Given the description of an element on the screen output the (x, y) to click on. 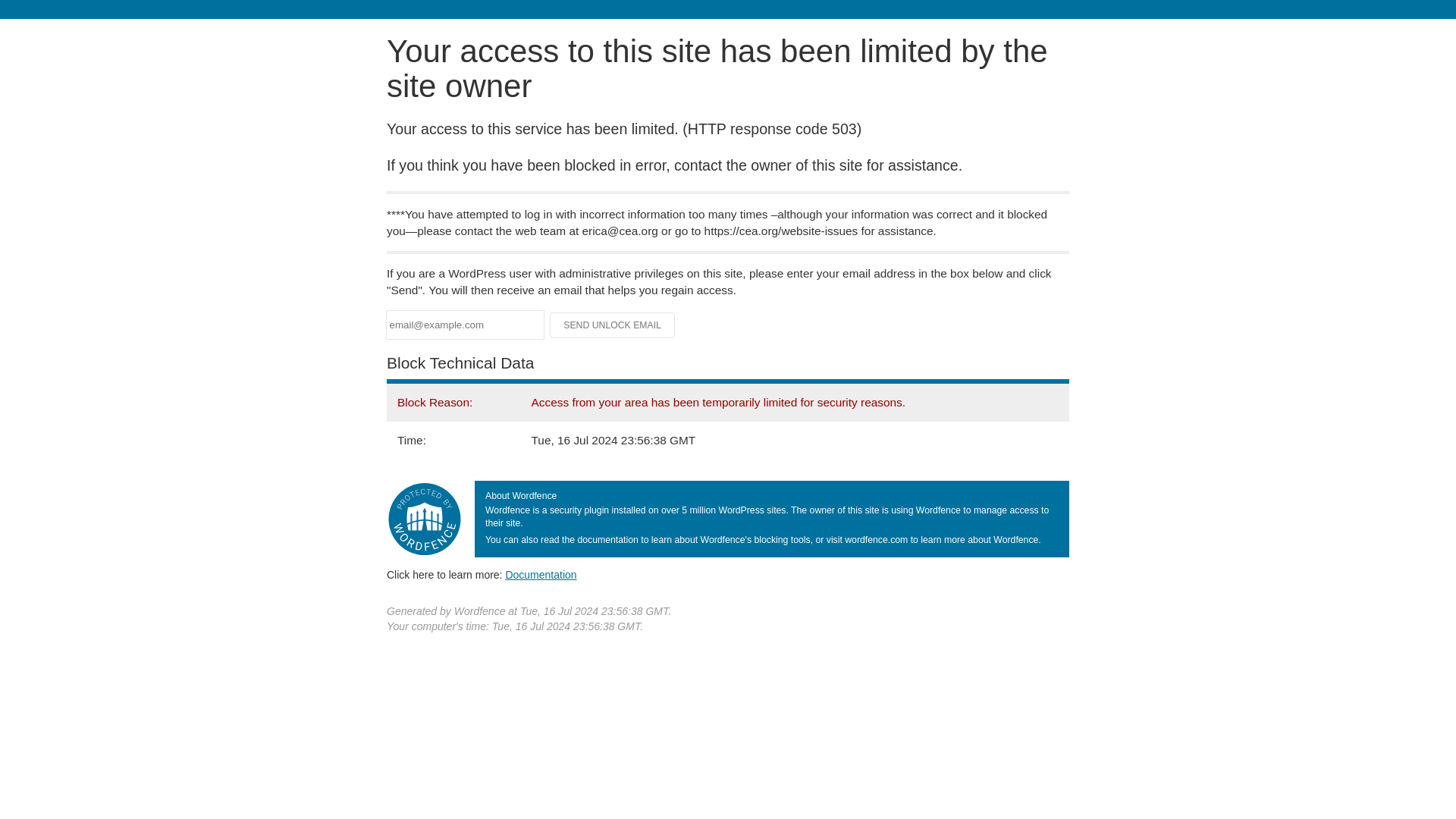
Send Unlock Email (612, 325)
Send Unlock Email (612, 325)
Documentation (540, 574)
